Given the description of an element on the screen output the (x, y) to click on. 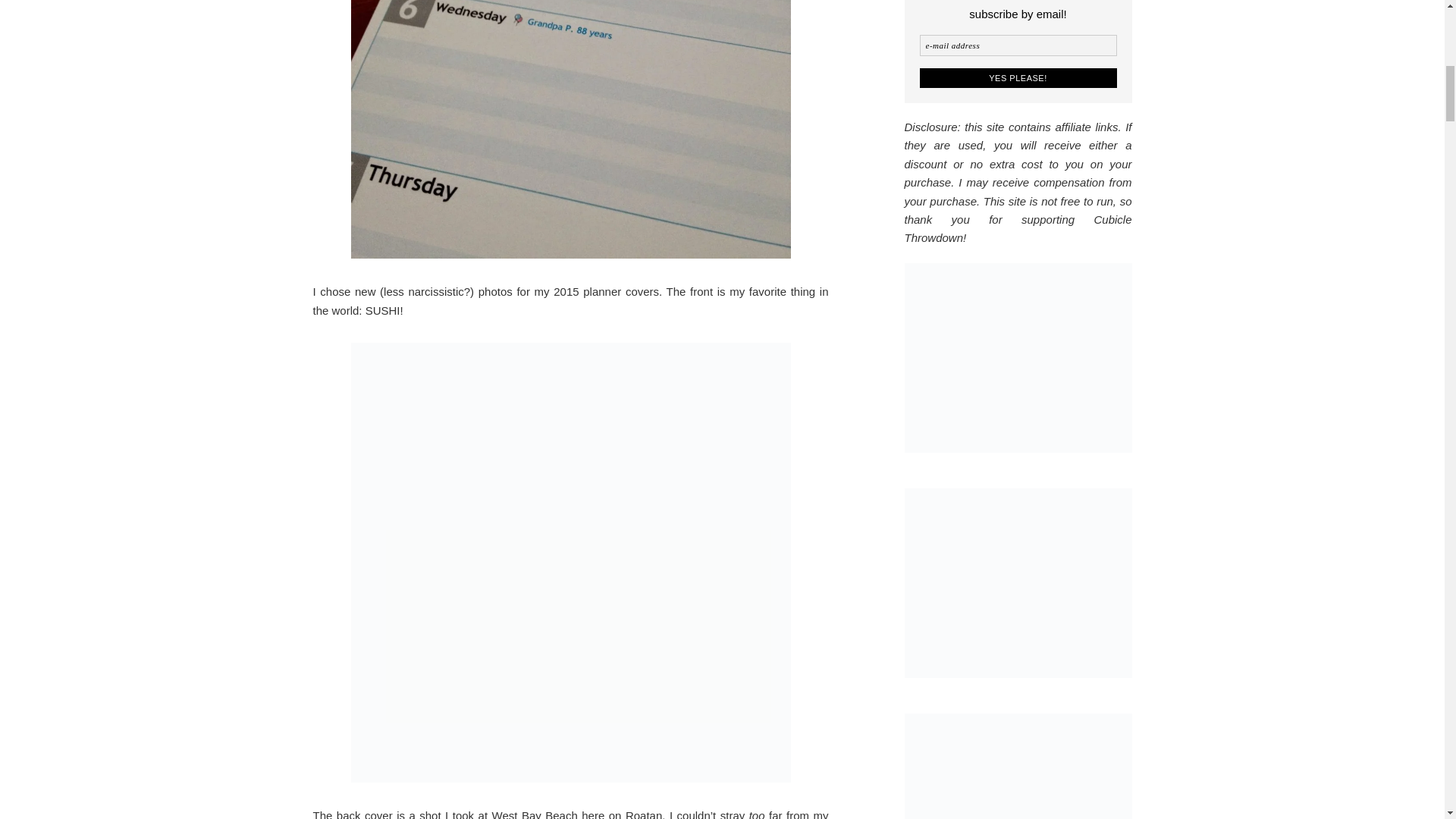
yes please! (1017, 77)
